Given the description of an element on the screen output the (x, y) to click on. 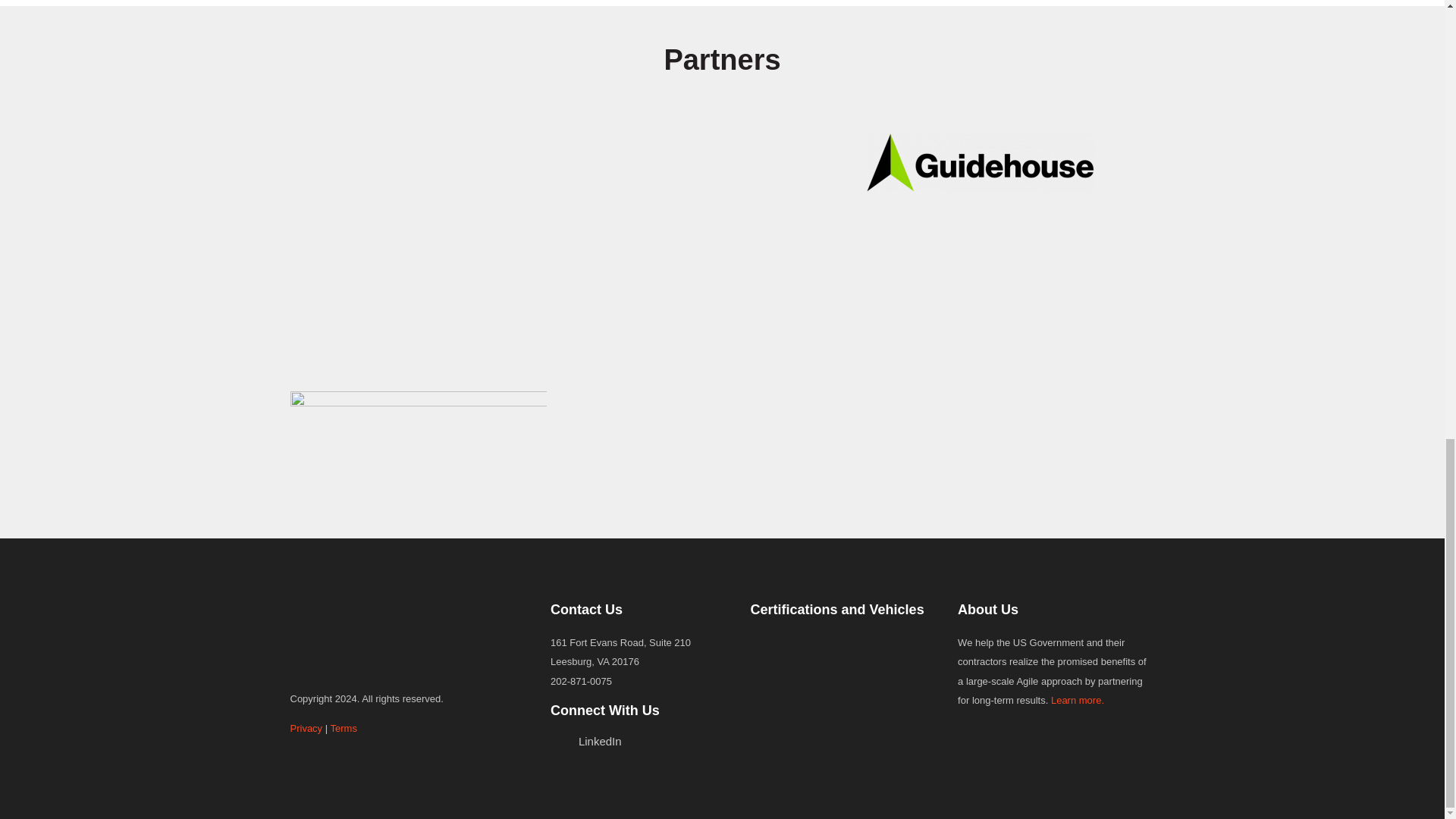
Terms (343, 727)
Privacy (305, 727)
Learn more. (1077, 699)
